Given the description of an element on the screen output the (x, y) to click on. 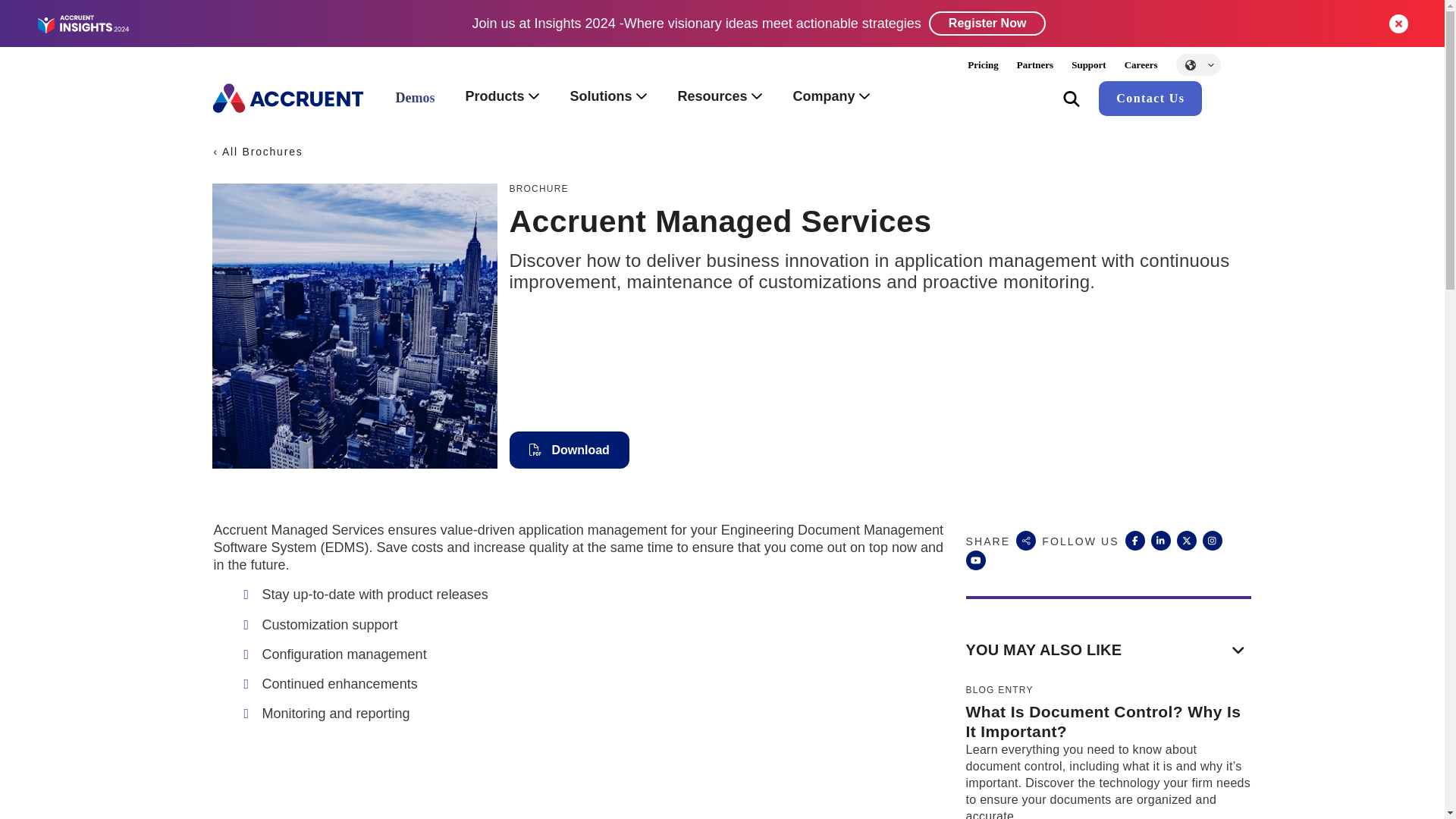
Partners (1034, 64)
Demos (414, 97)
Products (501, 98)
Solutions (608, 98)
Register Now (987, 23)
Careers (1141, 64)
Pricing (982, 64)
Support (1088, 64)
